Given the description of an element on the screen output the (x, y) to click on. 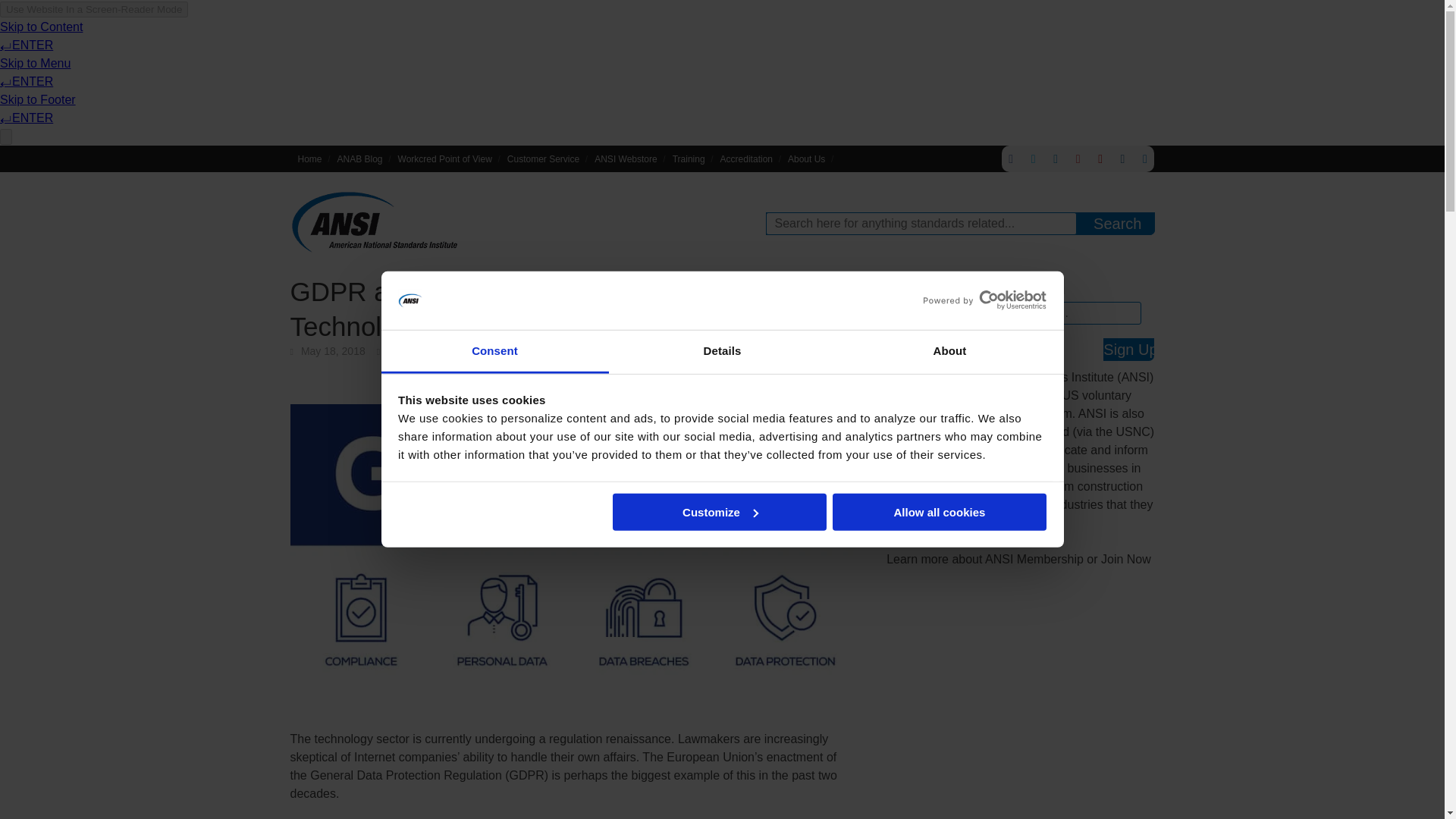
Consent (494, 351)
Search (1117, 223)
Sign Up (1128, 349)
About (948, 351)
Details (721, 351)
